Given the description of an element on the screen output the (x, y) to click on. 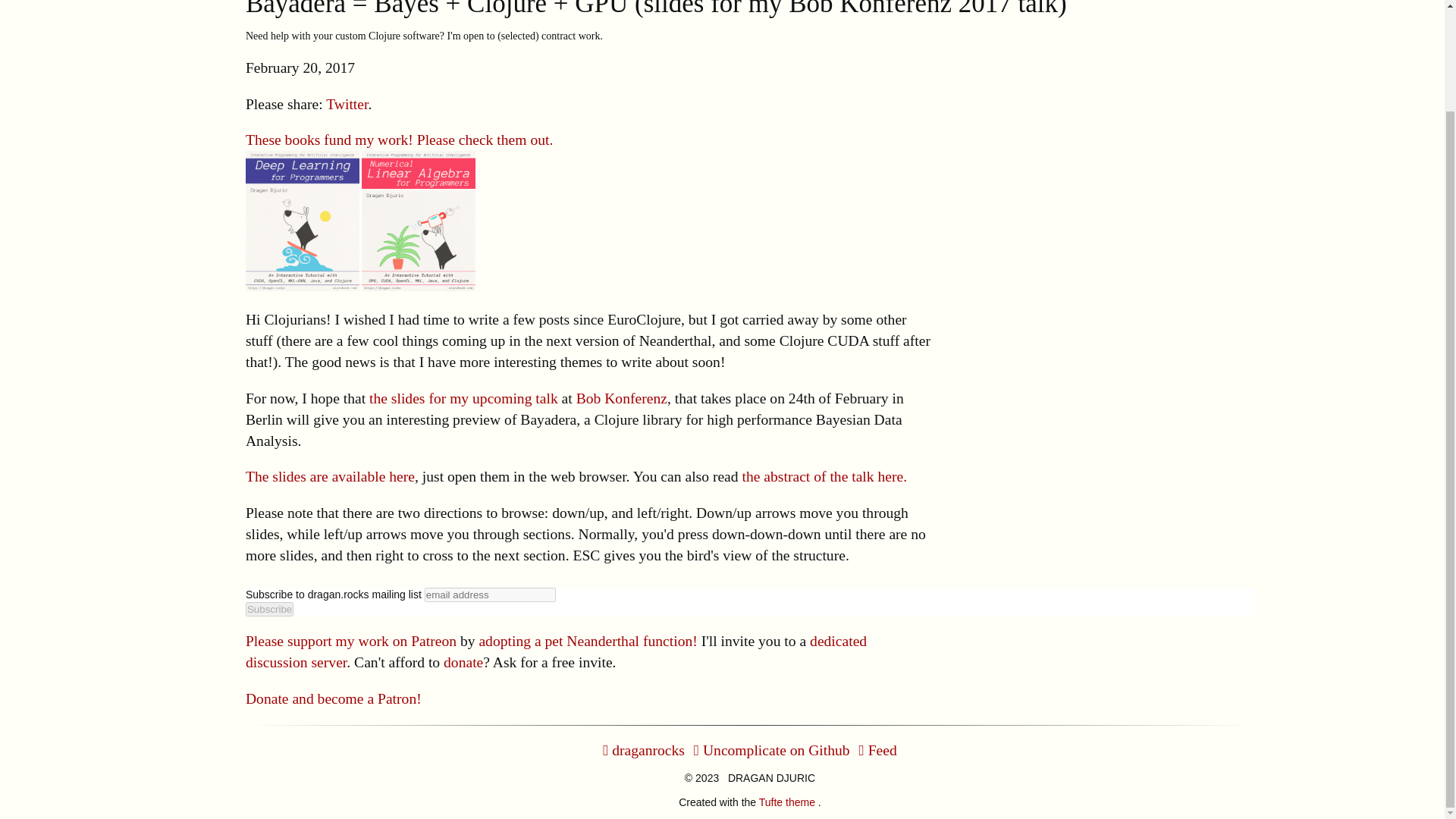
draganrocks (643, 750)
Subscribe (270, 608)
dedicated discussion server (556, 651)
the slides for my upcoming talk (463, 398)
Uncomplicate on Github (772, 750)
Donate and become a Patron! (334, 698)
The slides are available here (330, 476)
Subscribe (270, 608)
Feed (877, 750)
the abstract of the talk here. (824, 476)
Bob Konferenz (621, 398)
adopting a pet Neanderthal function! (588, 641)
These books fund my work! Please check them out. (399, 139)
donate (463, 662)
Please support my work on Patreon (351, 641)
